Given the description of an element on the screen output the (x, y) to click on. 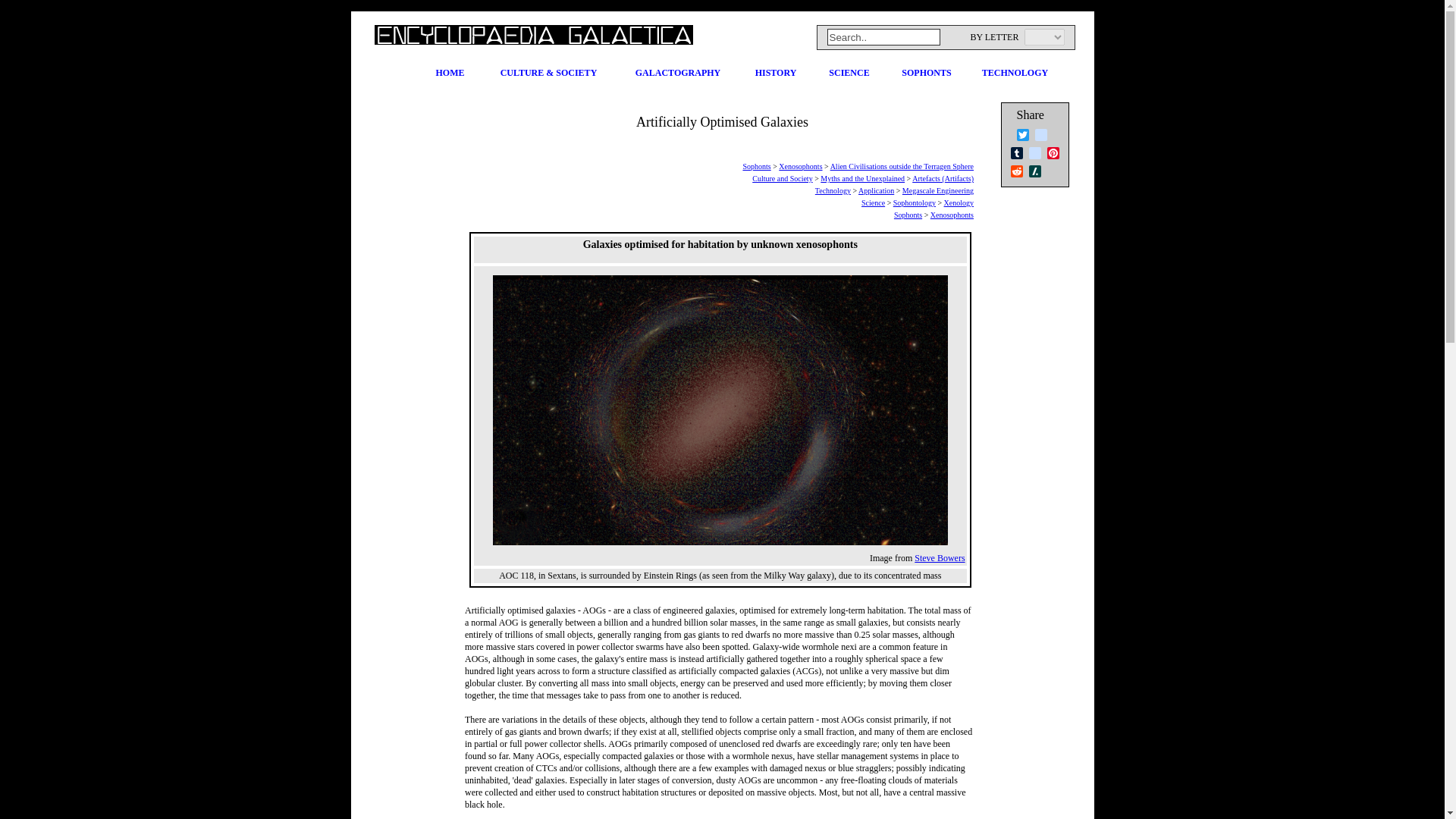
Xenosophonts (800, 166)
Reddit (1016, 171)
HISTORY (772, 71)
Science (873, 203)
SOPHONTS (922, 71)
Megascale Engineering (938, 190)
Twitter (1021, 135)
Sophonts (907, 214)
Pinterest (1052, 153)
Search.. (883, 36)
